Given the description of an element on the screen output the (x, y) to click on. 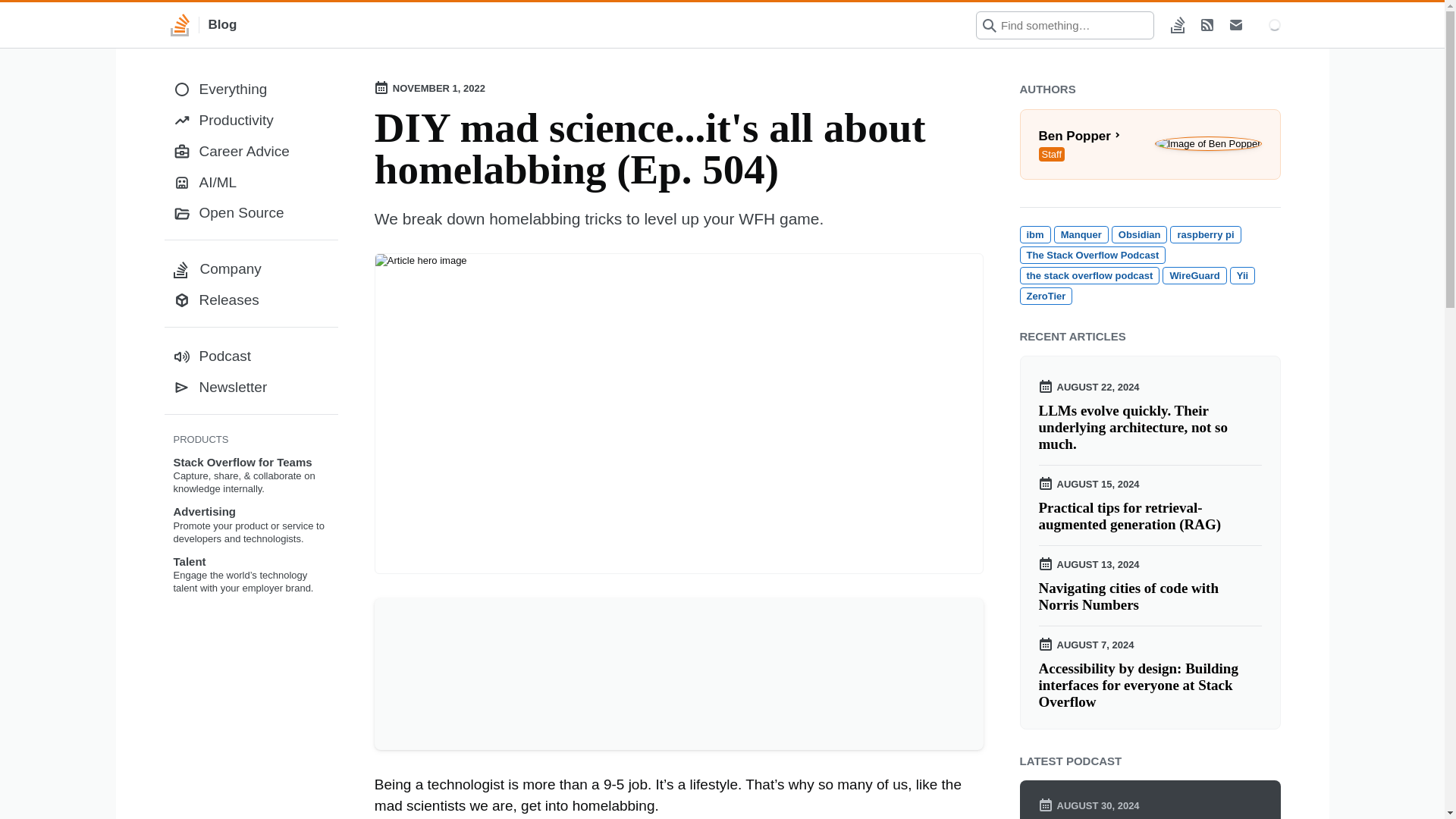
Productivity (1149, 143)
View full bio and posts (250, 121)
The Stack Overflow Podcast (1149, 143)
Company (1092, 254)
Newsletter (250, 269)
Blog (250, 387)
Navigating cities of code with Norris Numbers (203, 24)
WireGuard (1150, 596)
Everything (1193, 275)
